Given the description of an element on the screen output the (x, y) to click on. 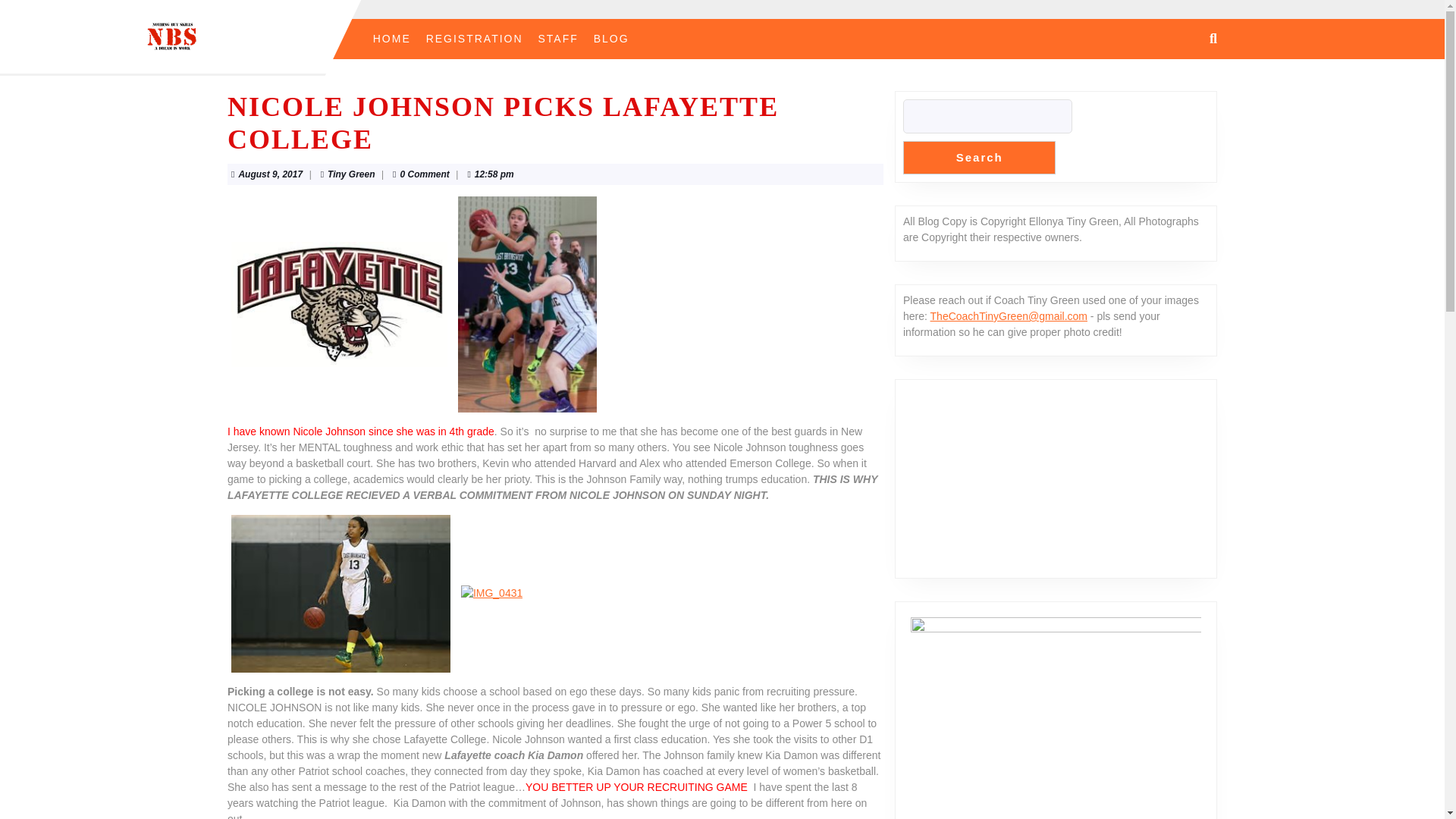
REAL TALK....WITH TINY GREEN (1055, 473)
STAFF (558, 39)
Search (270, 173)
BLOG (978, 157)
HOME (350, 173)
REGISTRATION (611, 39)
